Given the description of an element on the screen output the (x, y) to click on. 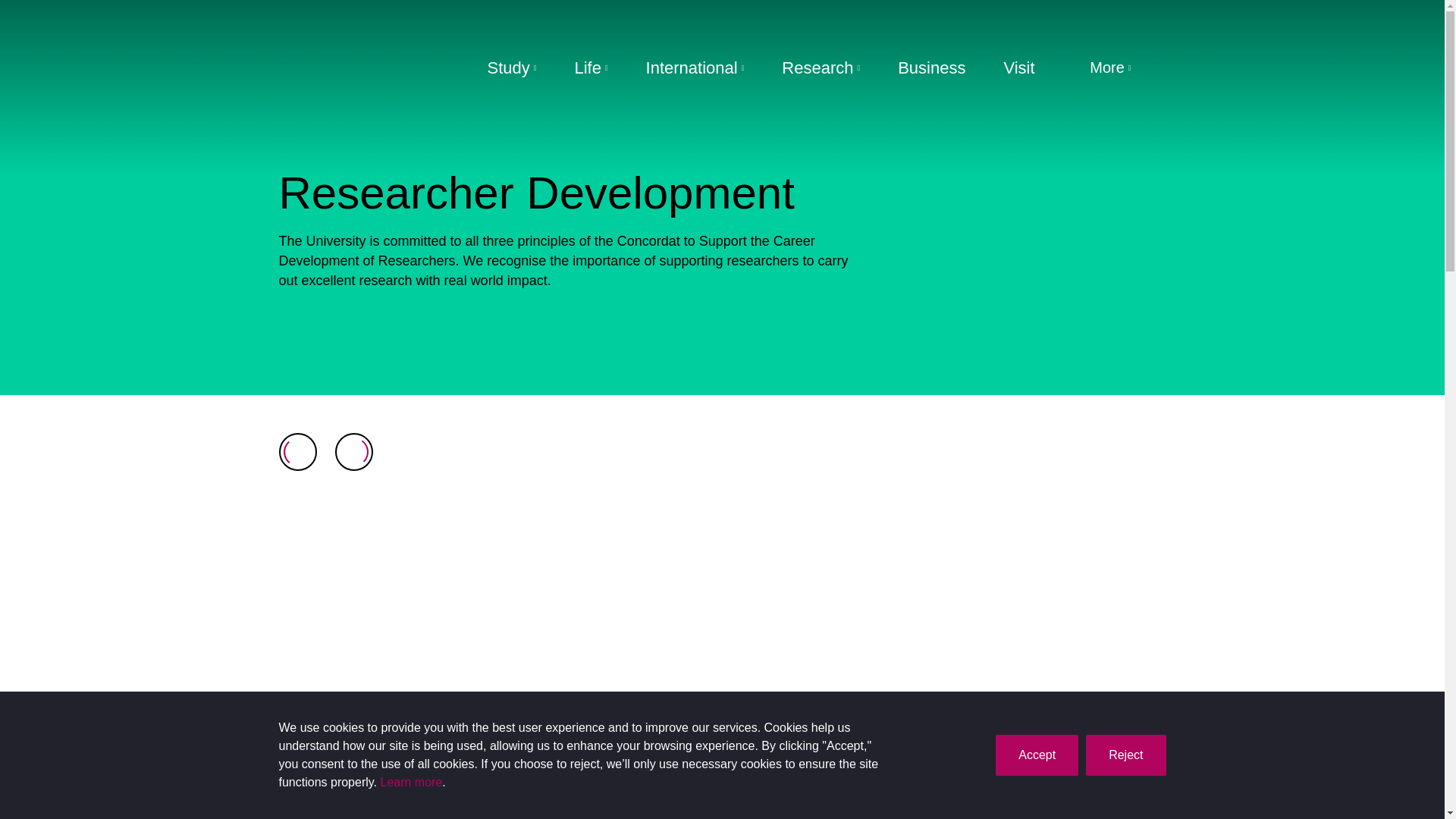
Study (510, 68)
Life (590, 68)
Cookies (411, 782)
